Given the description of an element on the screen output the (x, y) to click on. 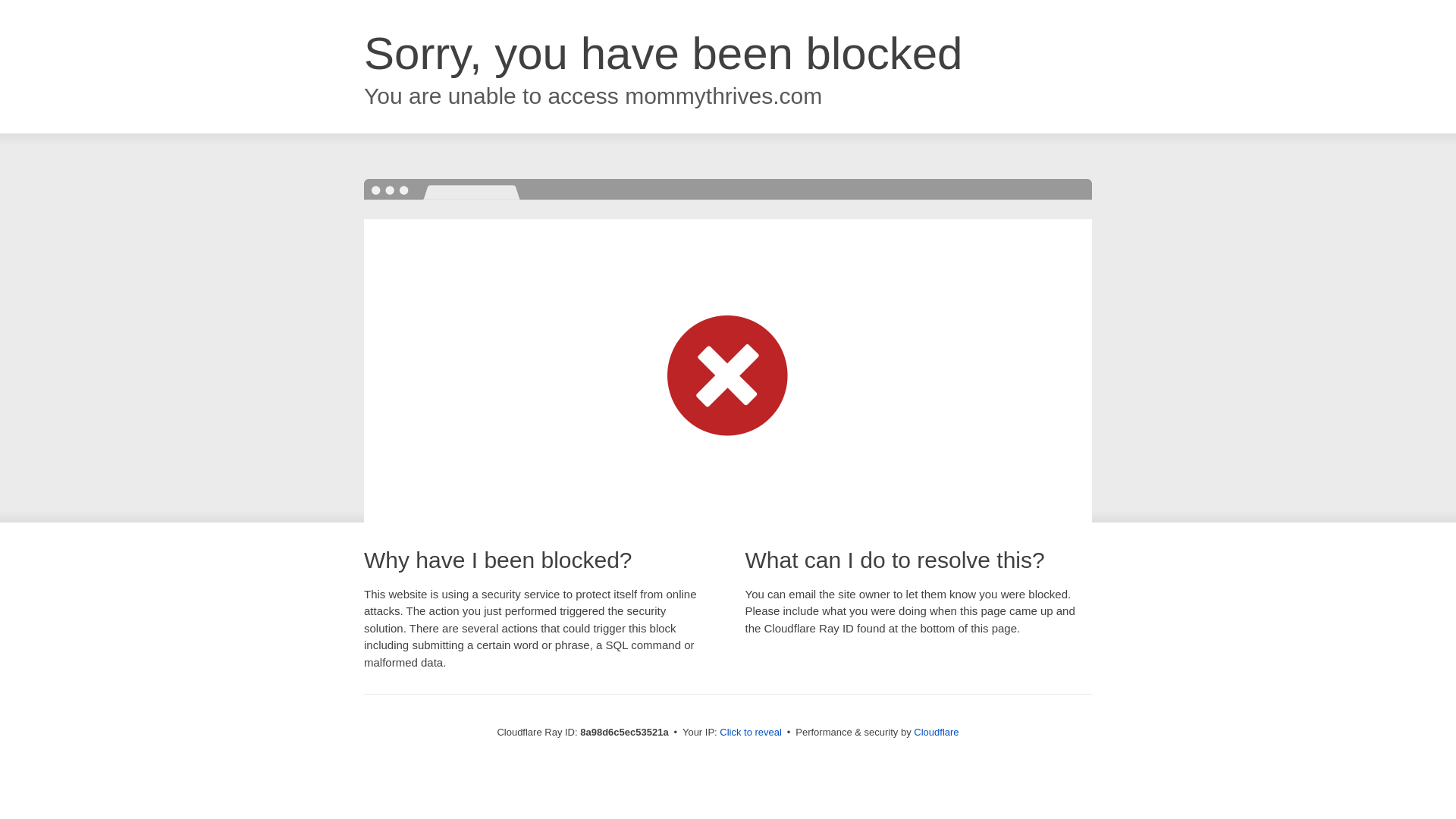
Click to reveal (750, 732)
Cloudflare (936, 731)
